Given the description of an element on the screen output the (x, y) to click on. 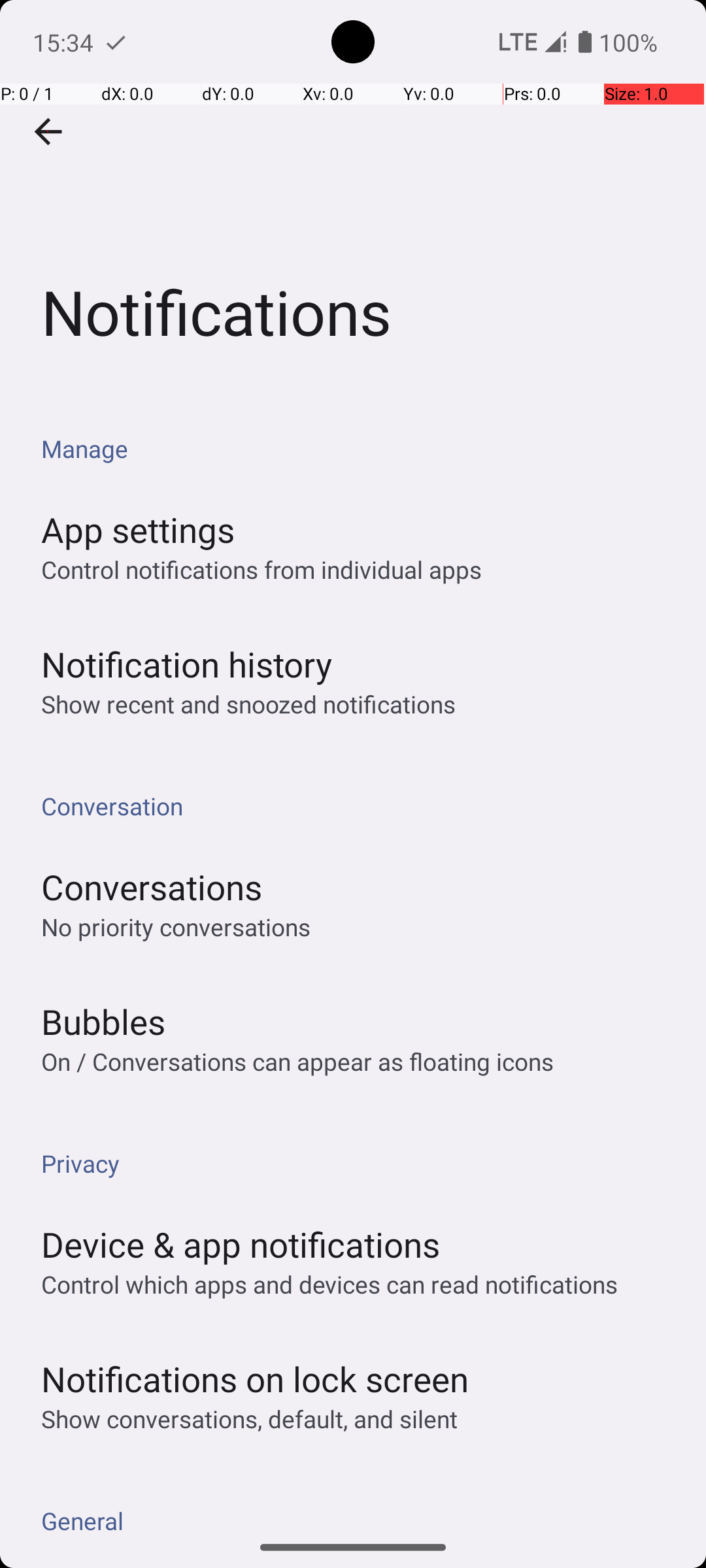
Show conversations, default, and silent Element type: android.widget.TextView (249, 1418)
